Given the description of an element on the screen output the (x, y) to click on. 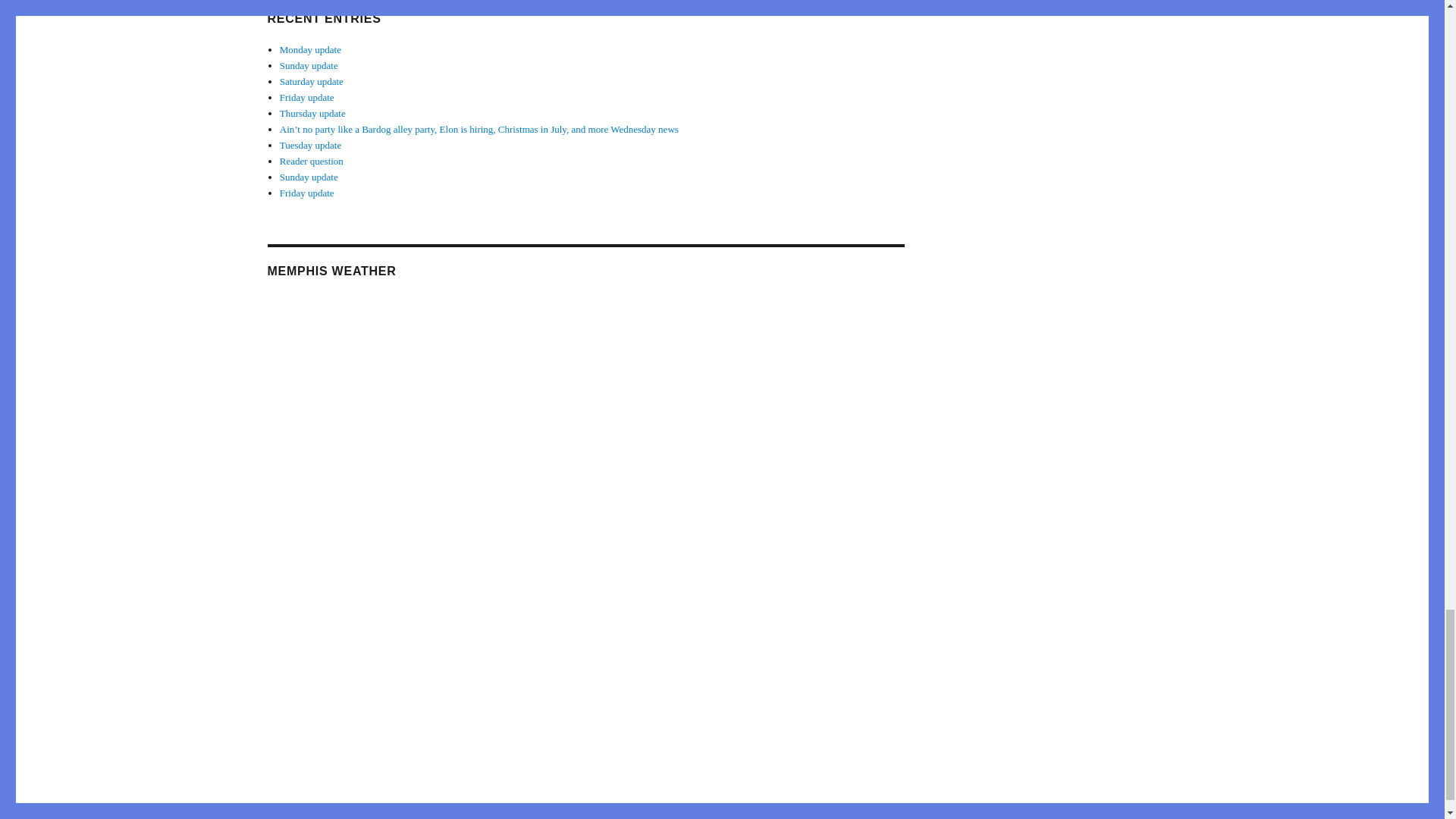
Sunday update (308, 65)
Monday update (309, 49)
Sunday update (308, 176)
Thursday update (312, 112)
Saturday update (311, 81)
Tuesday update (310, 144)
Friday update (306, 193)
Reader question (311, 161)
Friday update (306, 97)
